Given the description of an element on the screen output the (x, y) to click on. 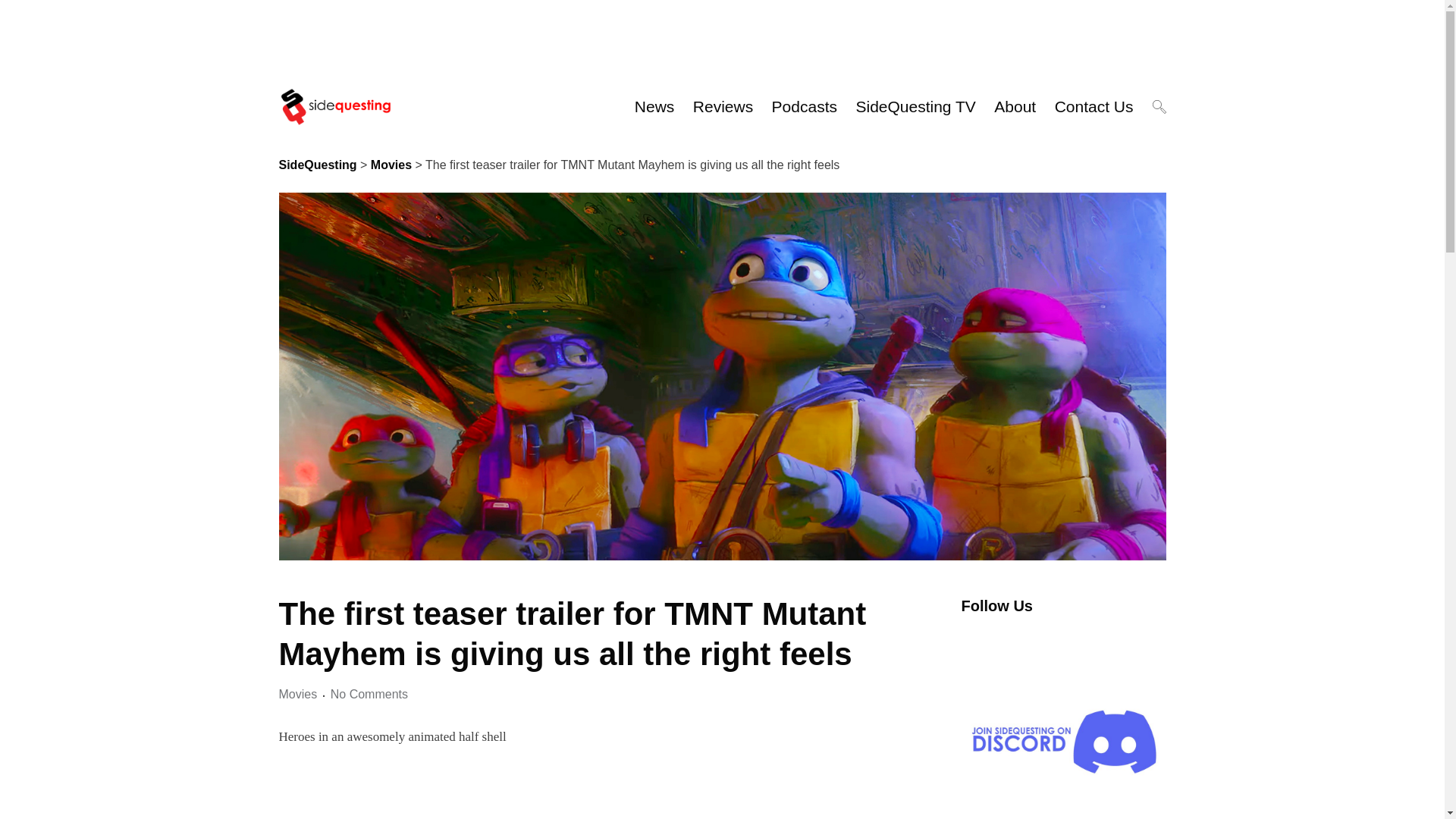
SideQuesting TV (915, 106)
Movies (298, 694)
SideQuesting (317, 166)
Contact Us (1094, 106)
No Comments (368, 694)
News (654, 106)
Go to SideQuesting. (317, 166)
About (1014, 106)
Movies (391, 166)
Go to the Movies Category archives. (391, 166)
